Given the description of an element on the screen output the (x, y) to click on. 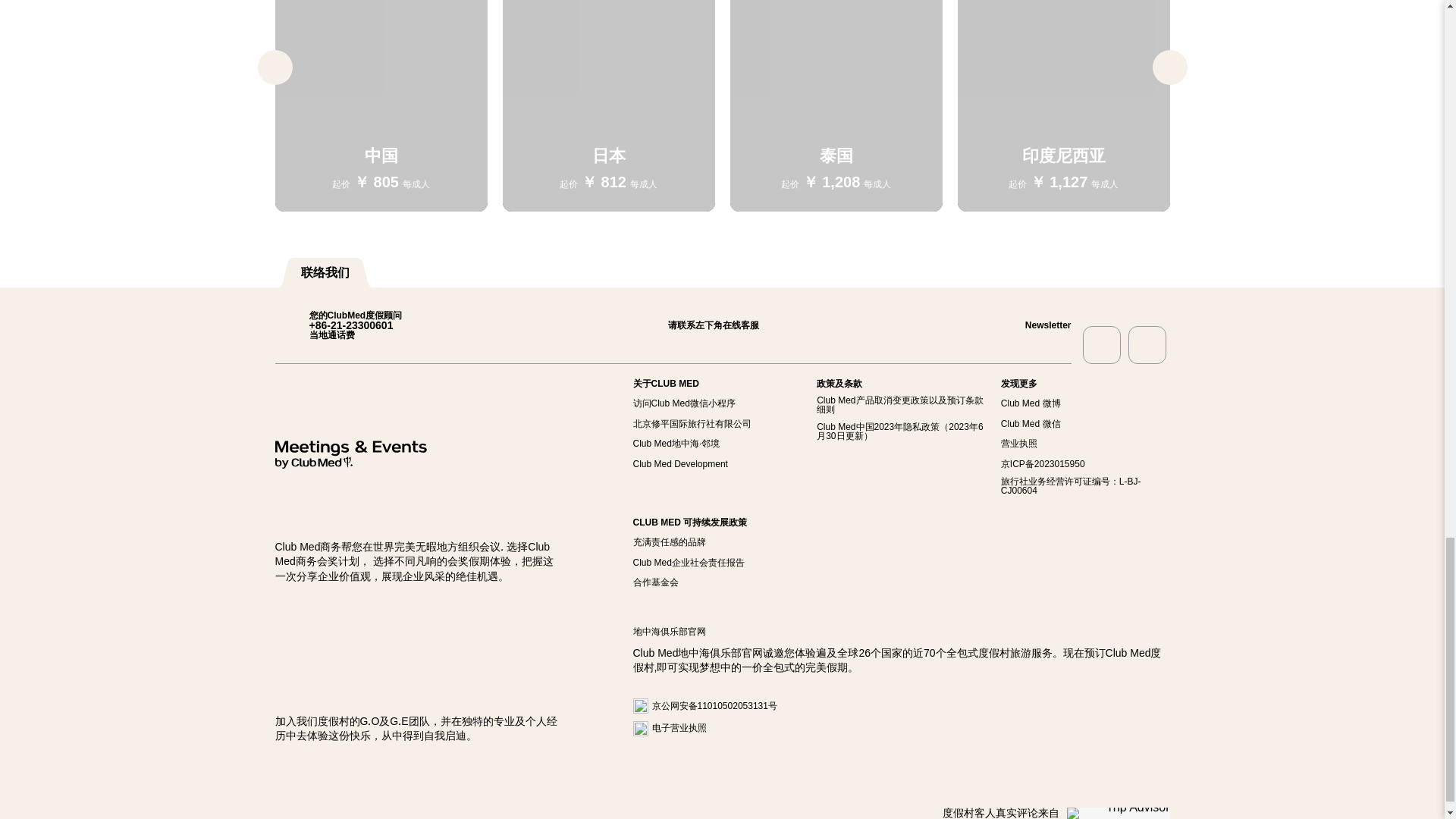
Newsletter (1031, 325)
